Given the description of an element on the screen output the (x, y) to click on. 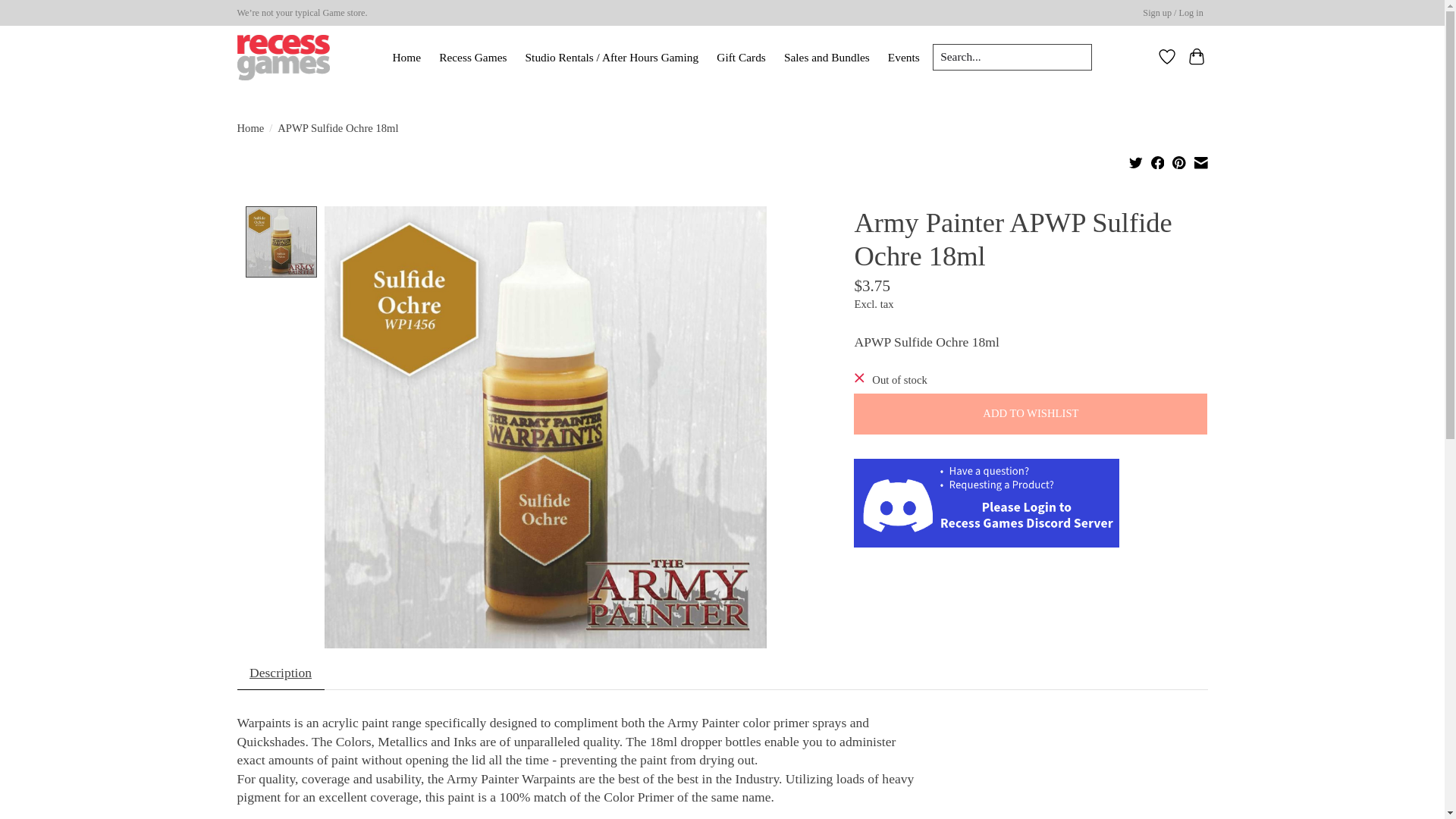
Share on Facebook (1157, 162)
Events (903, 56)
Recess Games (472, 56)
Share on Twitter (1135, 162)
Description (279, 673)
ADD TO WISHLIST (1030, 413)
My account (1173, 13)
Share on Facebook (1157, 164)
Share by Email (1200, 164)
Share on Pinterest (1178, 162)
